Given the description of an element on the screen output the (x, y) to click on. 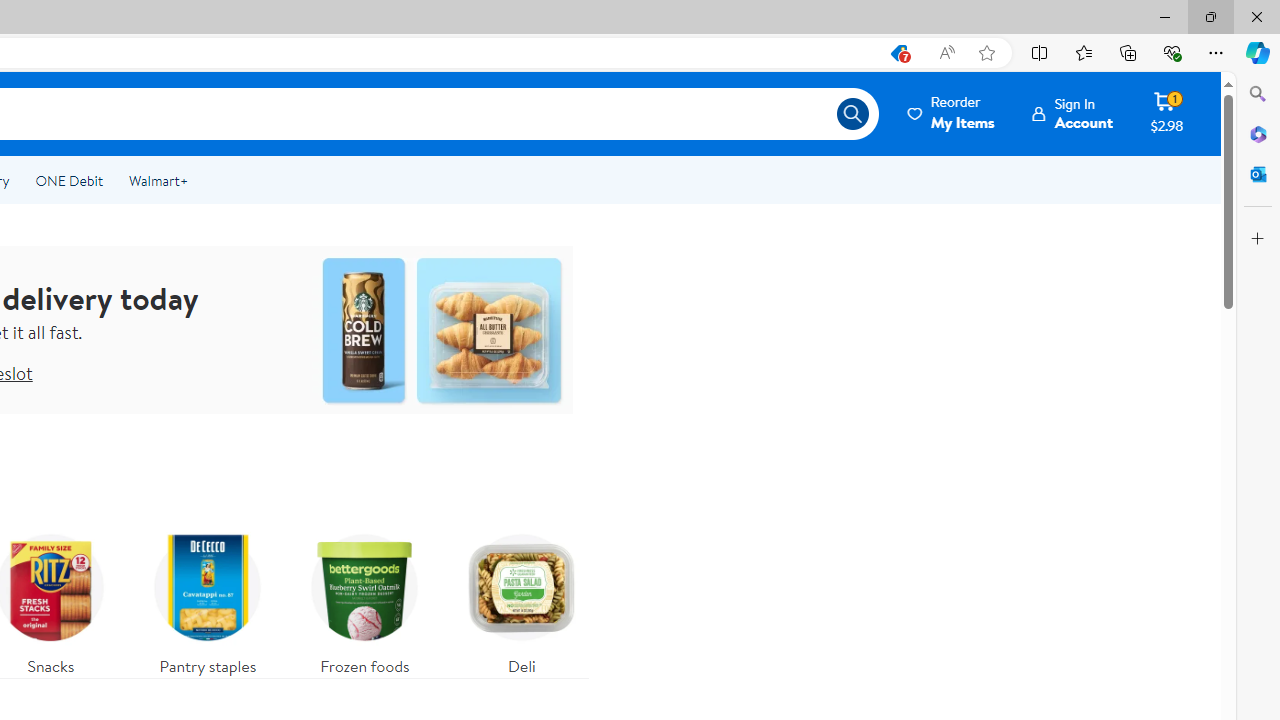
Walmart+ (158, 180)
Reorder My Items (952, 113)
Search icon (852, 113)
Pantry staples (207, 599)
Pantry staples (207, 599)
Sign InAccount (1072, 113)
